Given the description of an element on the screen output the (x, y) to click on. 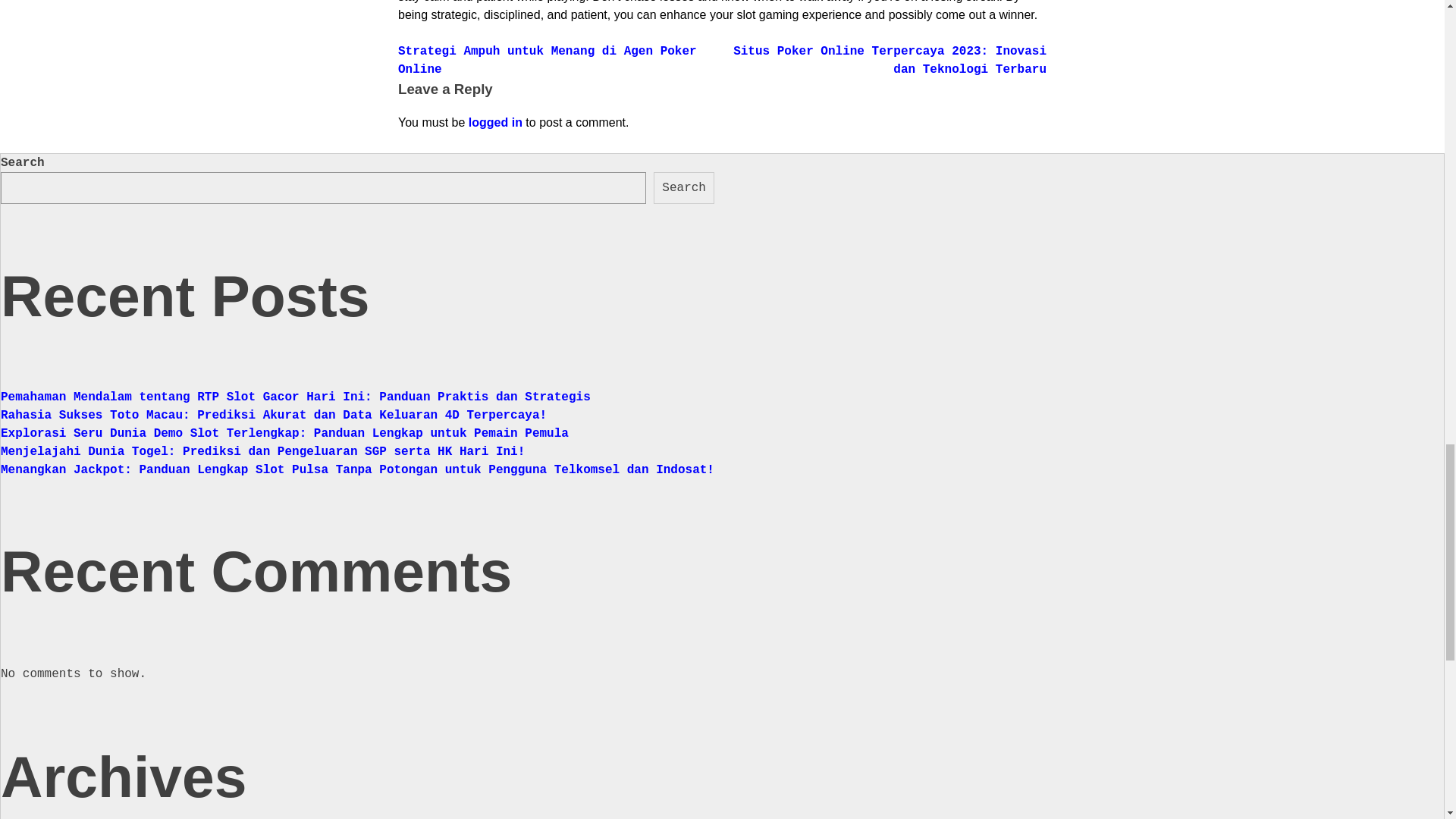
Search (683, 187)
Strategi Ampuh untuk Menang di Agen Poker Online (547, 60)
logged in (495, 122)
